Given the description of an element on the screen output the (x, y) to click on. 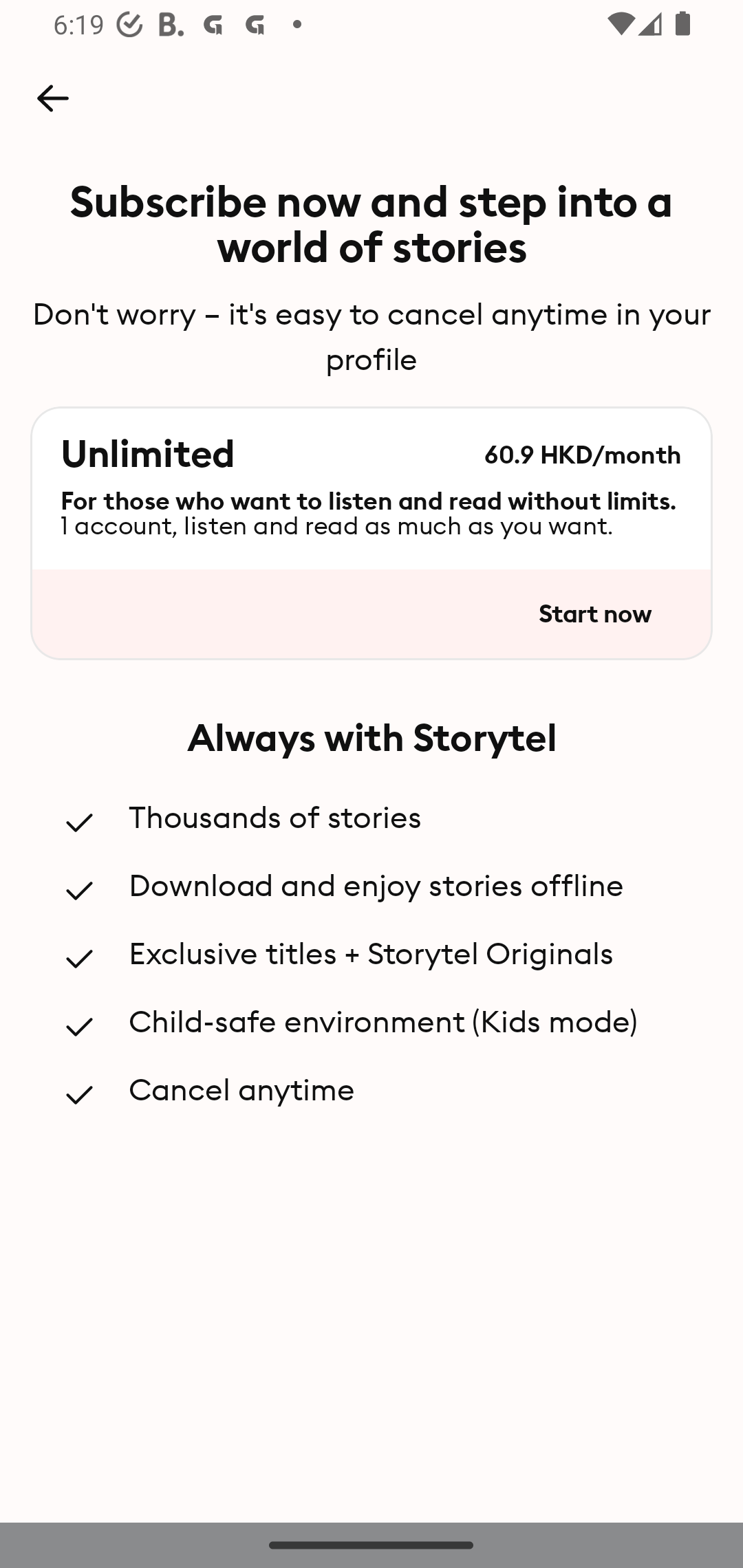
Back (52, 98)
Start now (594, 614)
